Given the description of an element on the screen output the (x, y) to click on. 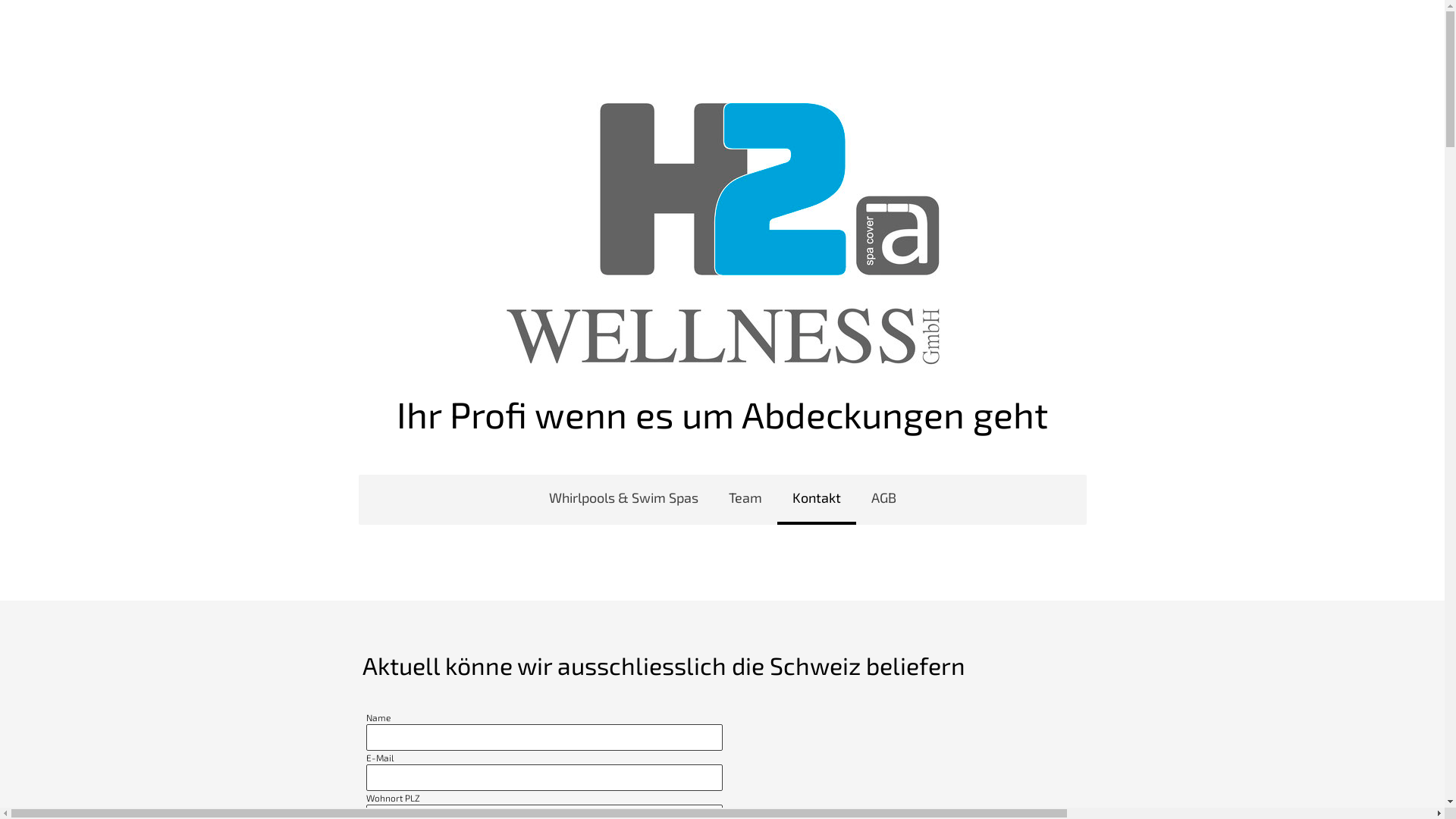
Team Element type: text (744, 499)
AGB Element type: text (882, 499)
Kontakt Element type: text (815, 499)
Whirlpools & Swim Spas Element type: text (623, 499)
Ihr Profi wenn es um Abdeckungen geht Element type: text (722, 414)
